Given the description of an element on the screen output the (x, y) to click on. 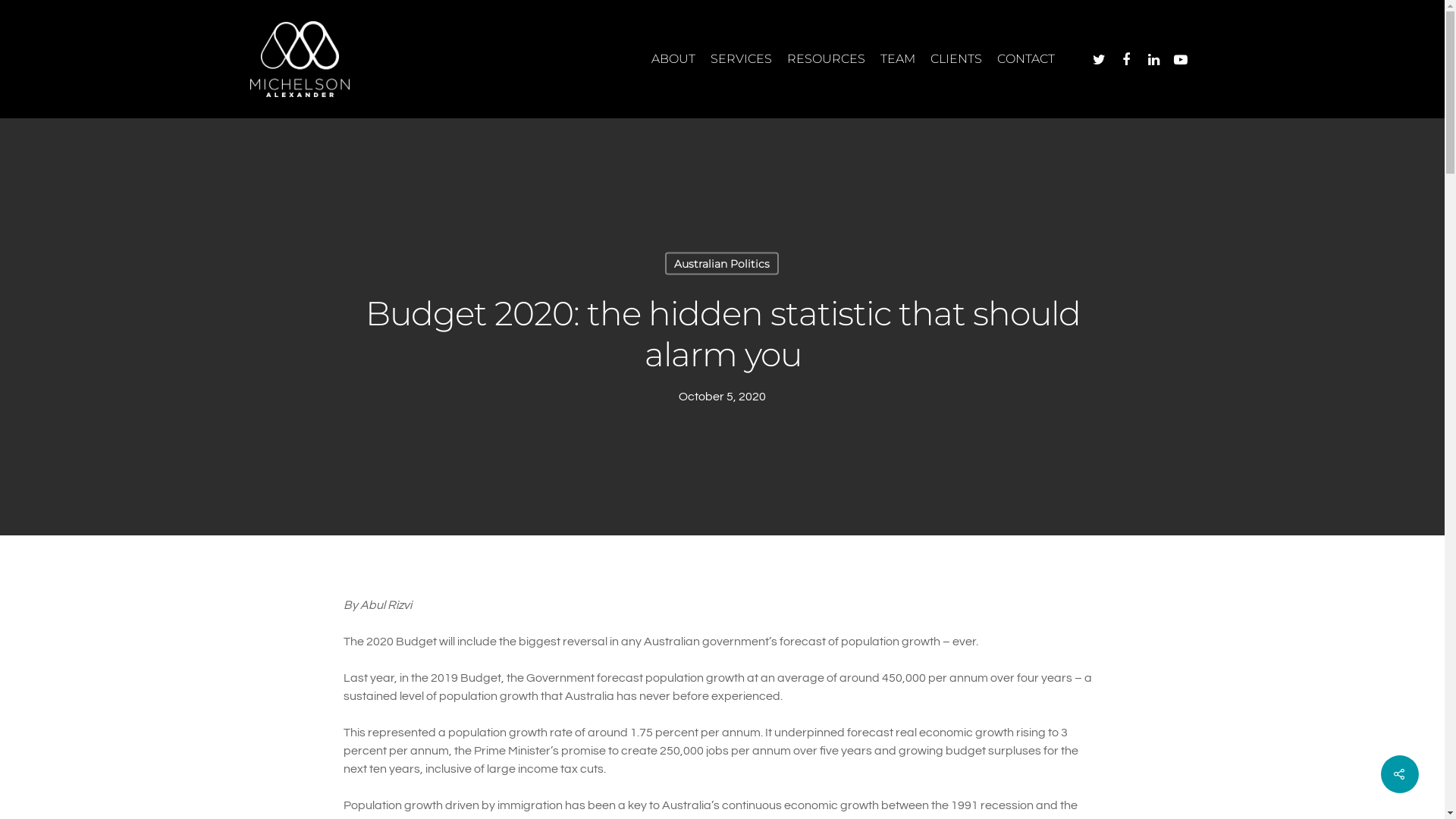
SERVICES Element type: text (740, 59)
CONTACT Element type: text (1025, 59)
CLIENTS Element type: text (956, 59)
TEAM Element type: text (897, 59)
ABOUT Element type: text (673, 59)
Australian Politics Element type: text (721, 262)
RESOURCES Element type: text (826, 59)
